Given the description of an element on the screen output the (x, y) to click on. 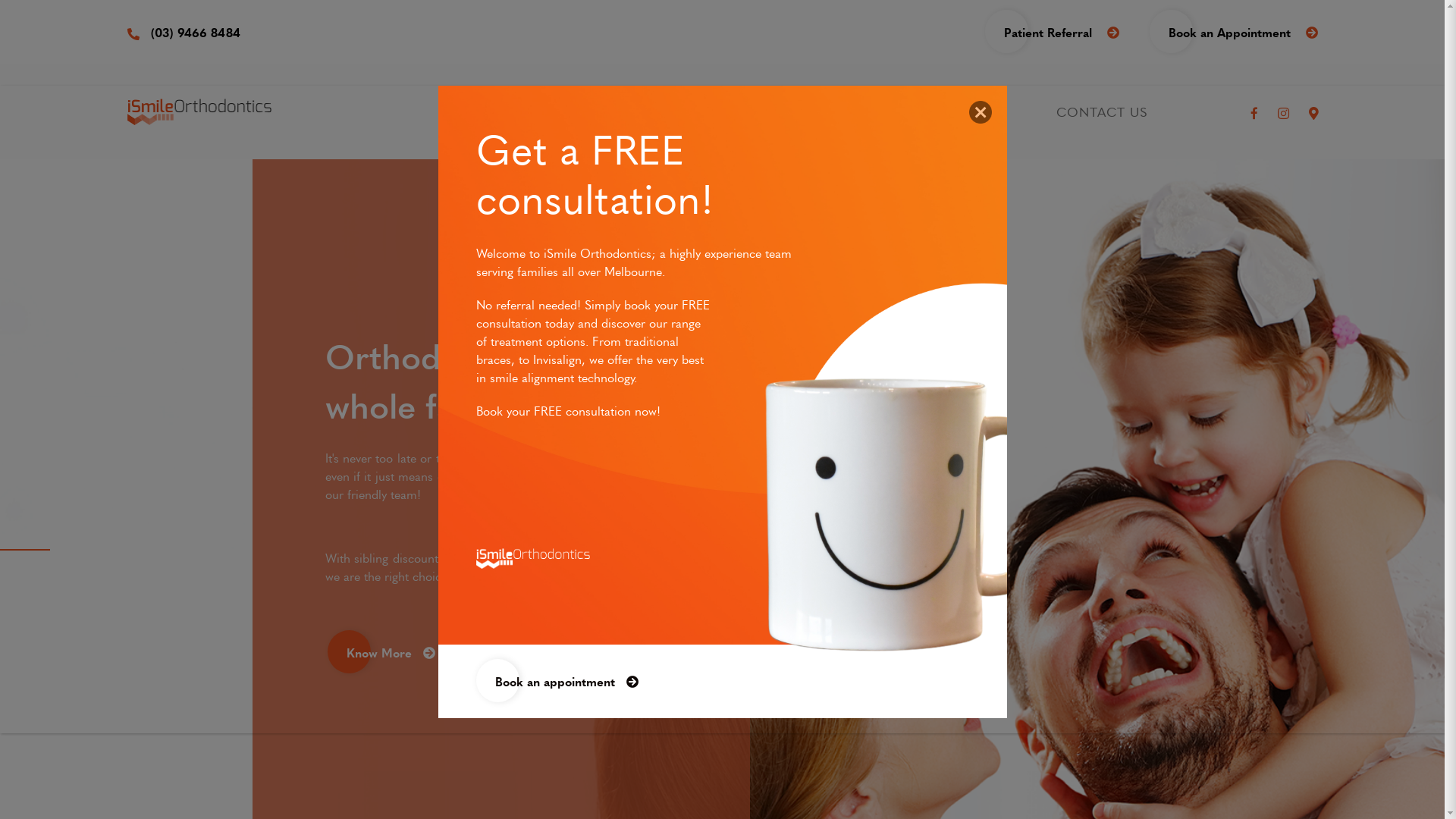
(03) 9466 8484 Element type: text (183, 31)
ismile orthodontics bundoora Element type: hover (199, 111)
PATIENT CENTRE Element type: text (896, 111)
best orthodontist near me Element type: hover (915, 513)
Book an appointment Element type: text (565, 681)
Book an Appointment Element type: text (1242, 31)
Patient Referral Element type: text (1061, 31)
TREATMENTS Element type: text (692, 111)
ABOUT US Element type: text (509, 111)
Know More Element type: text (389, 636)
affordable orthodontics Element type: hover (532, 558)
CONTACT US Element type: text (1101, 111)
ismile orthodontics bundoora Element type: hover (980, 111)
